Given the description of an element on the screen output the (x, y) to click on. 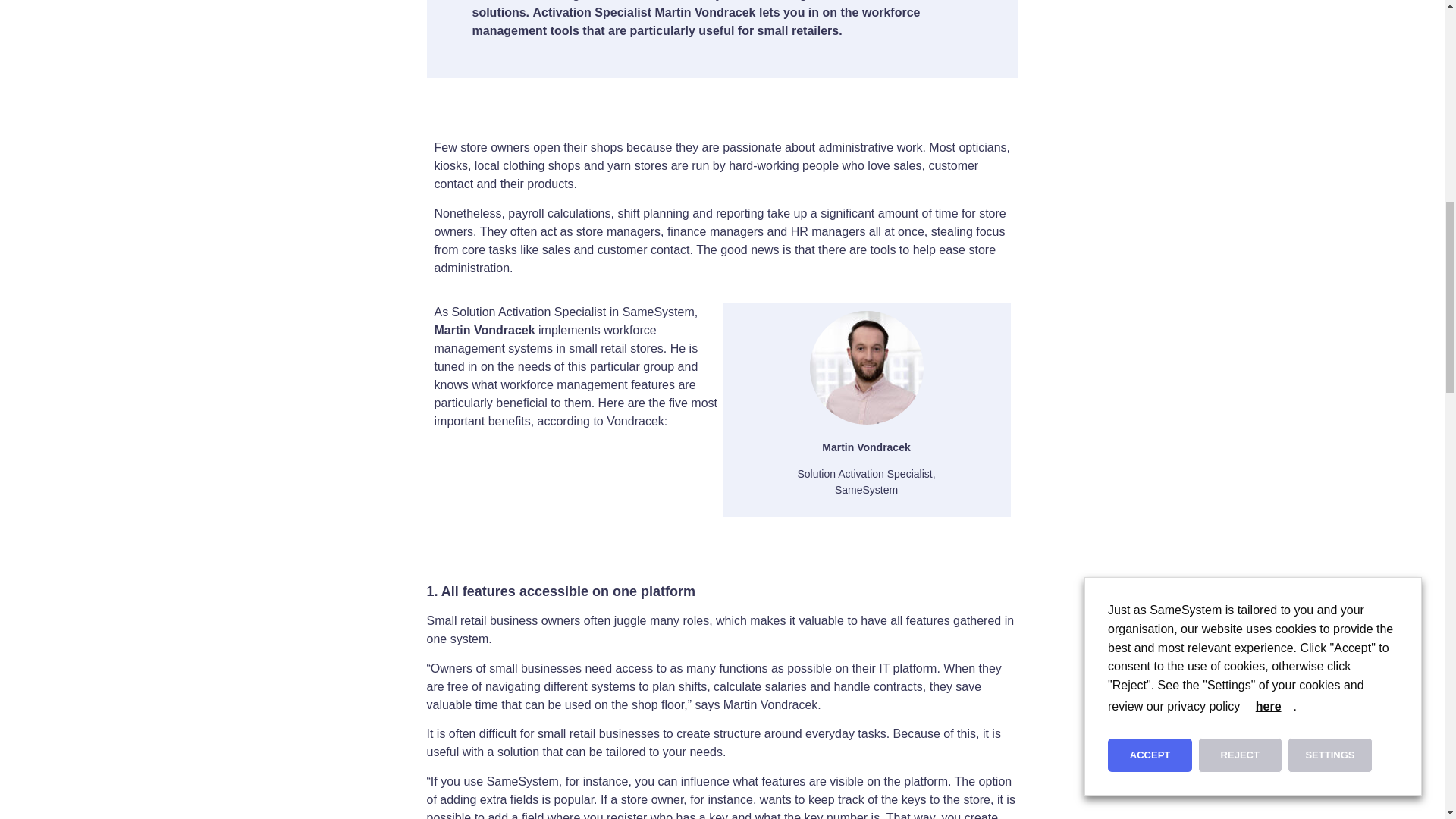
Martin-Vondracek (866, 368)
